Given the description of an element on the screen output the (x, y) to click on. 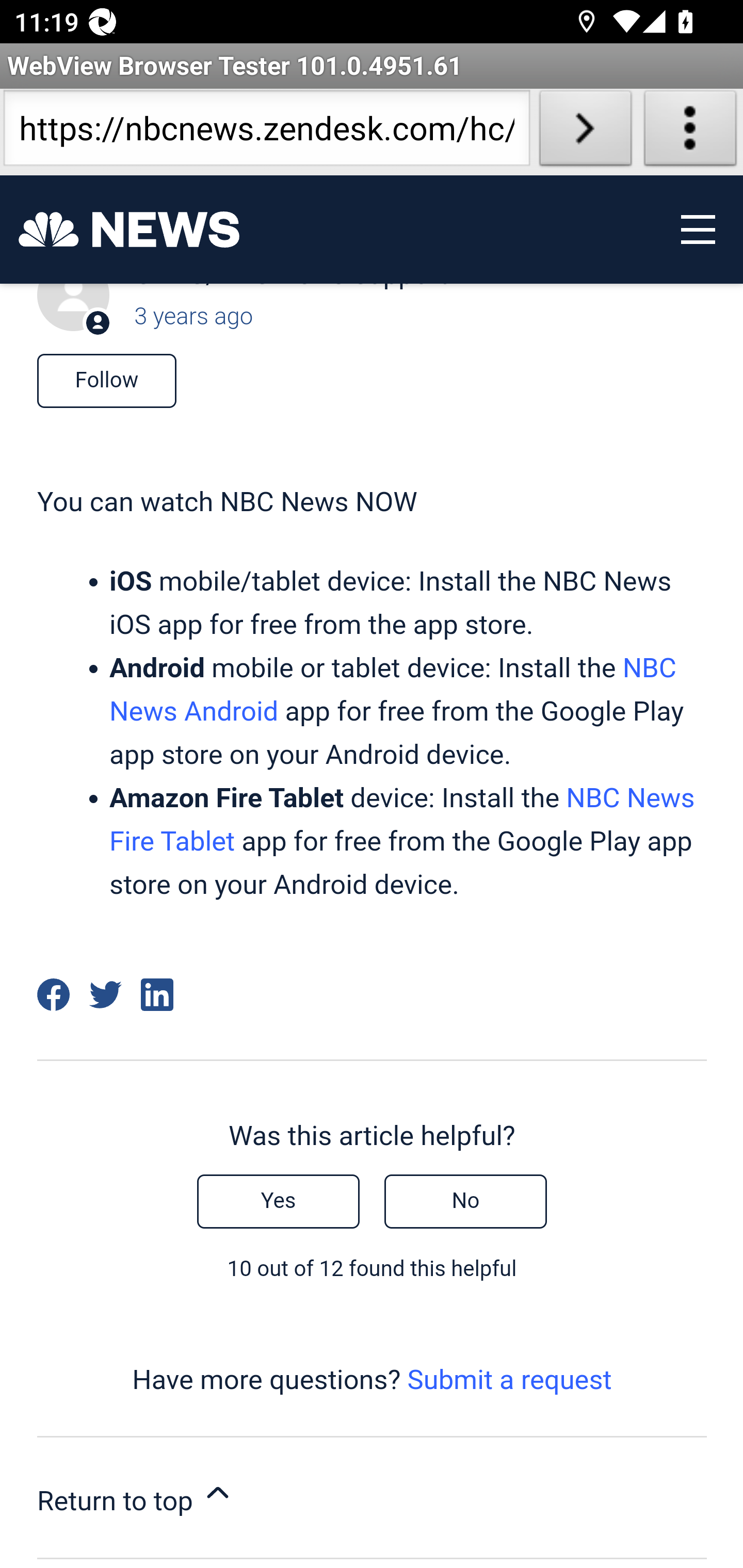
Load URL (585, 132)
About WebView (690, 132)
?icid=nav_bar_logo (128, 230)
Follow Article Not yet followed by anyone (106, 382)
NBC News Android (392, 690)
NBC News Fire Tablet (401, 820)
Facebook Share this page on Facebook (52, 995)
Twitter Share this page on X Corp (105, 995)
LinkedIn Share this page on LinkedIn (157, 995)
This article was helpful (277, 1201)
This article was not helpful (465, 1201)
Submit a request (509, 1379)
Return to top  (372, 1498)
